Given the description of an element on the screen output the (x, y) to click on. 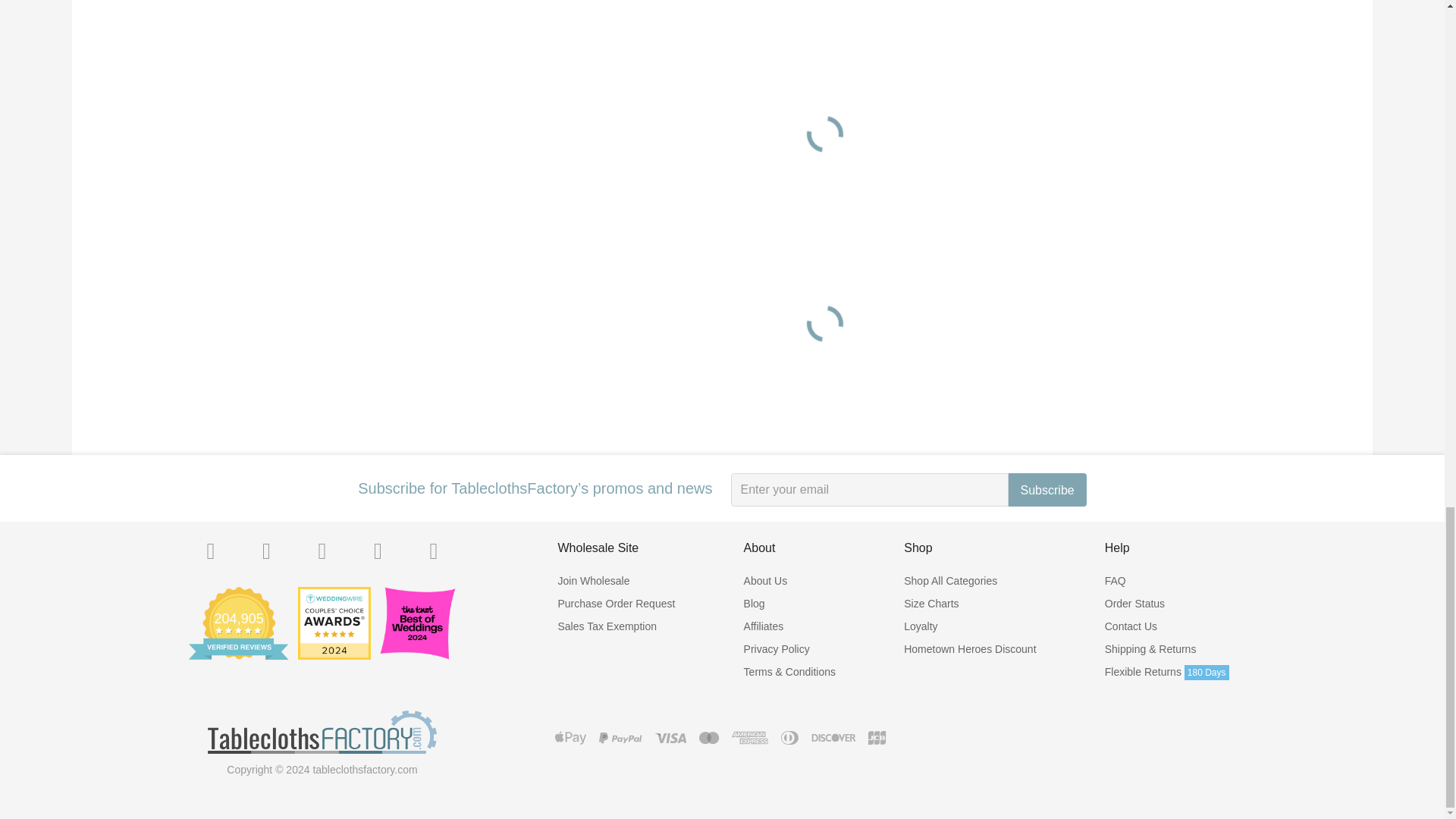
WeddingWire Couples' Choice Award Winner 2024 (334, 623)
